Given the description of an element on the screen output the (x, y) to click on. 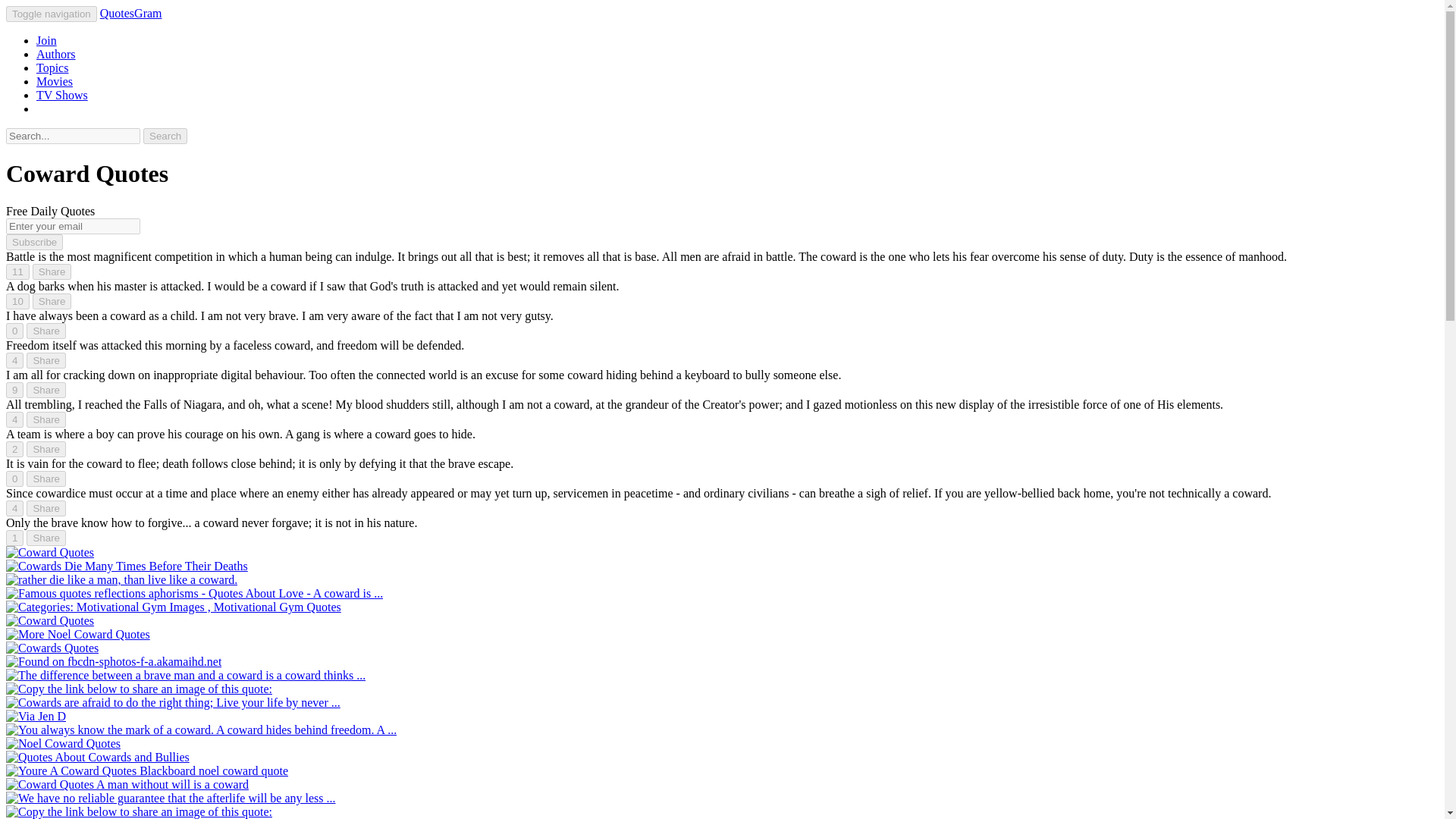
Authors (55, 53)
1 (14, 537)
Toggle navigation (51, 13)
Share (45, 449)
11 (17, 271)
Share (45, 390)
0 (14, 330)
9 (14, 390)
Search (164, 135)
10 (17, 301)
2 (14, 449)
Join (46, 40)
Share (45, 478)
Topics (52, 67)
Share (45, 419)
